Given the description of an element on the screen output the (x, y) to click on. 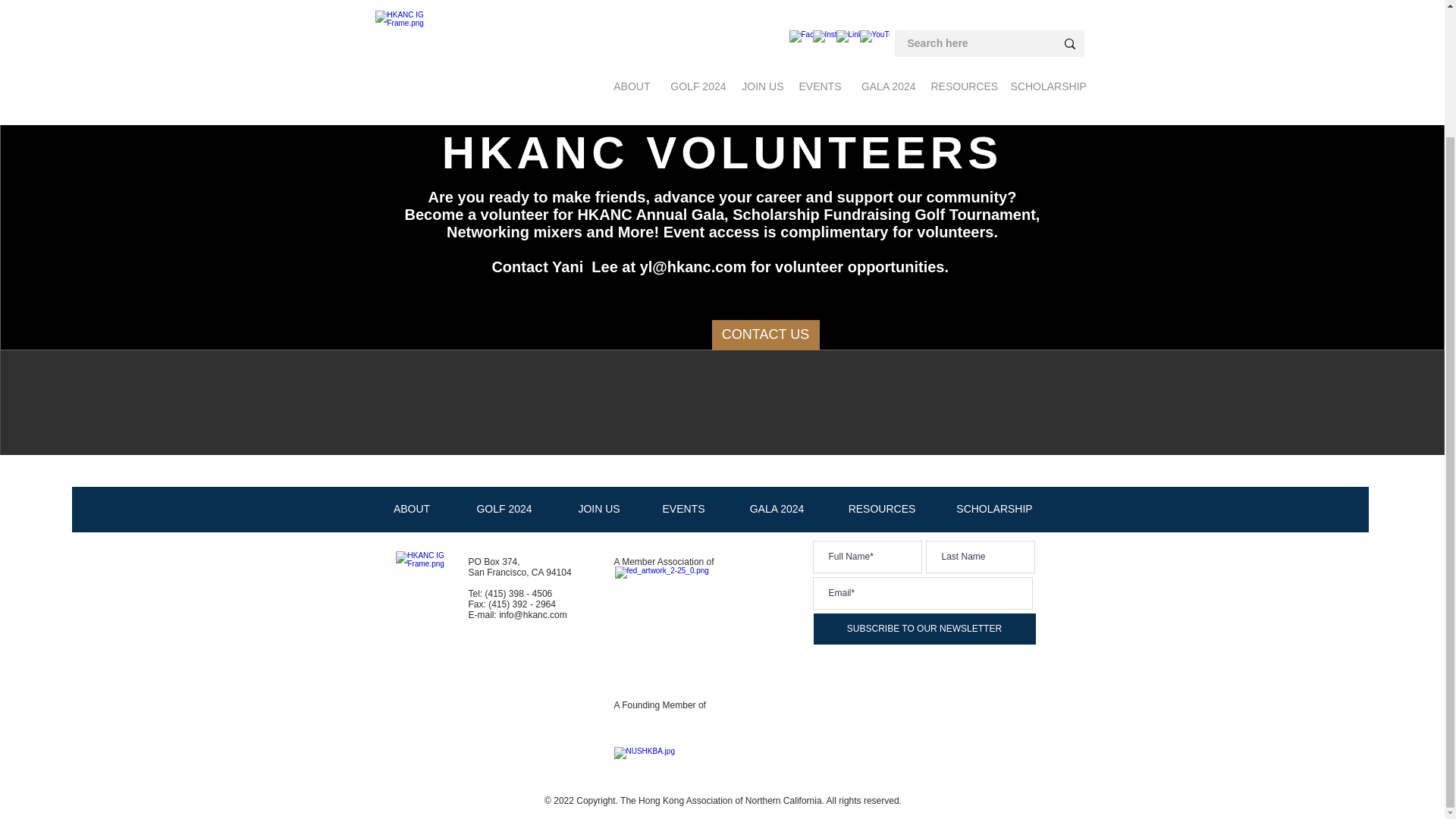
CONTACT US (764, 335)
GOLF 2024 (503, 508)
